Given the description of an element on the screen output the (x, y) to click on. 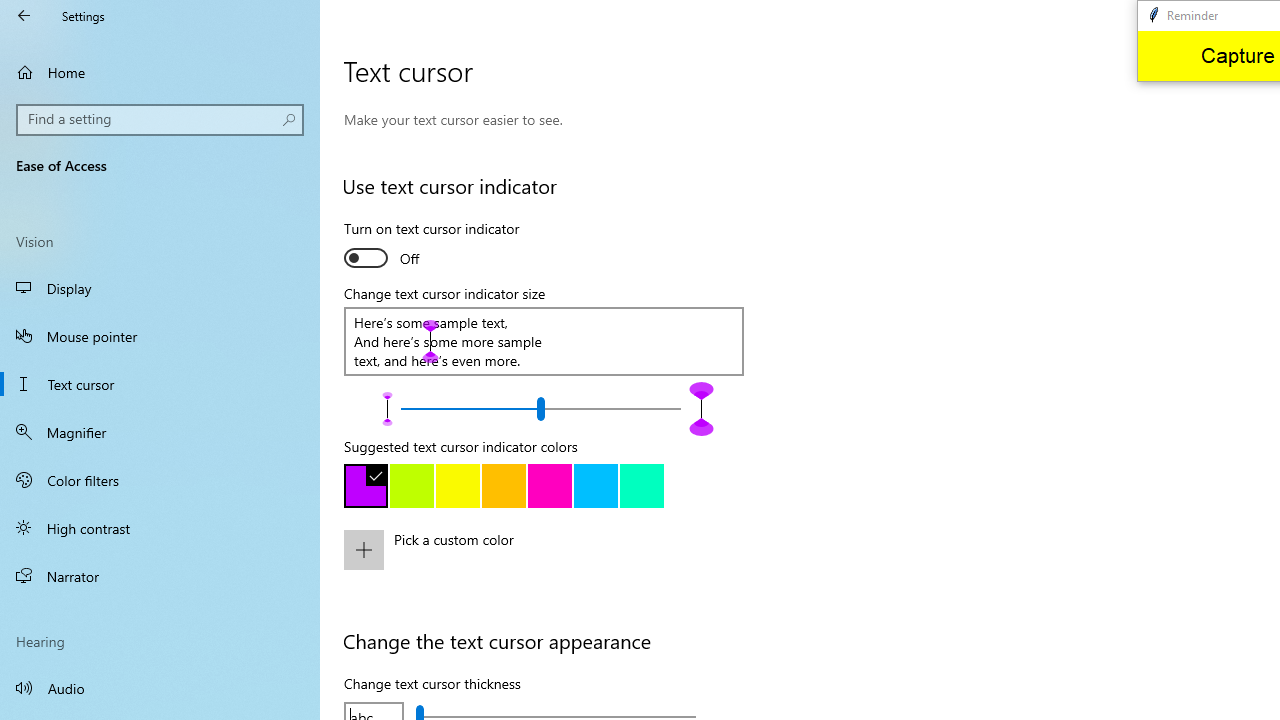
Pick a custom color (563, 563)
Turn on text cursor indicator (431, 246)
Turquoise (595, 485)
Pink (549, 485)
High contrast (160, 527)
Narrator (160, 575)
Green (641, 485)
Color filters (160, 479)
Yellow (458, 485)
Change text cursor indicator size (540, 408)
Display (160, 287)
Lime (411, 485)
Magnifier (160, 431)
Mouse pointer (160, 335)
Home (160, 71)
